Given the description of an element on the screen output the (x, y) to click on. 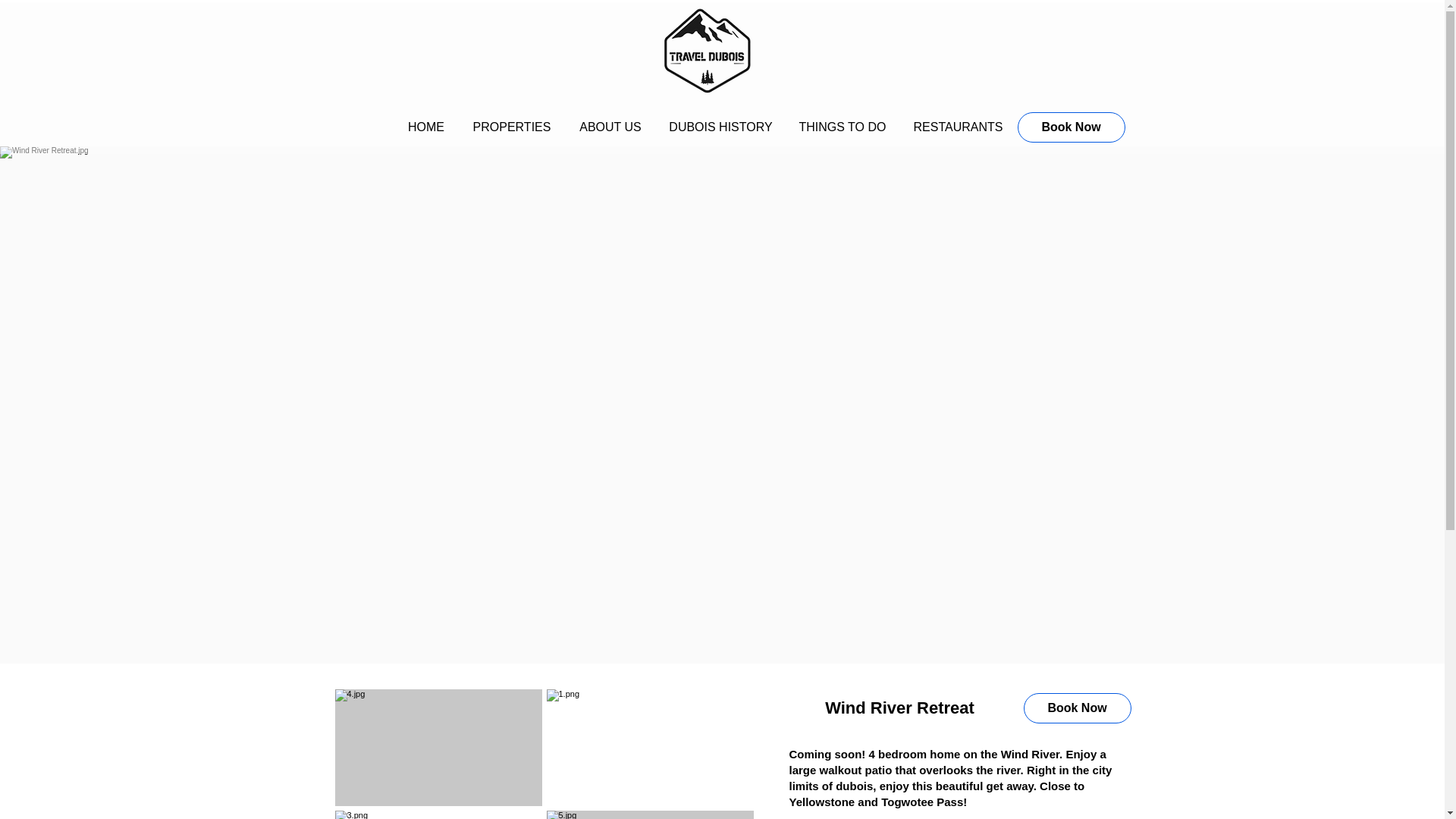
Book Now (1077, 707)
HOME (426, 127)
ABOUT US (611, 127)
PROPERTIES (511, 127)
RESTAURANTS (958, 127)
THINGS TO DO (842, 127)
DUBOIS HISTORY (720, 127)
Book Now (1071, 127)
